Given the description of an element on the screen output the (x, y) to click on. 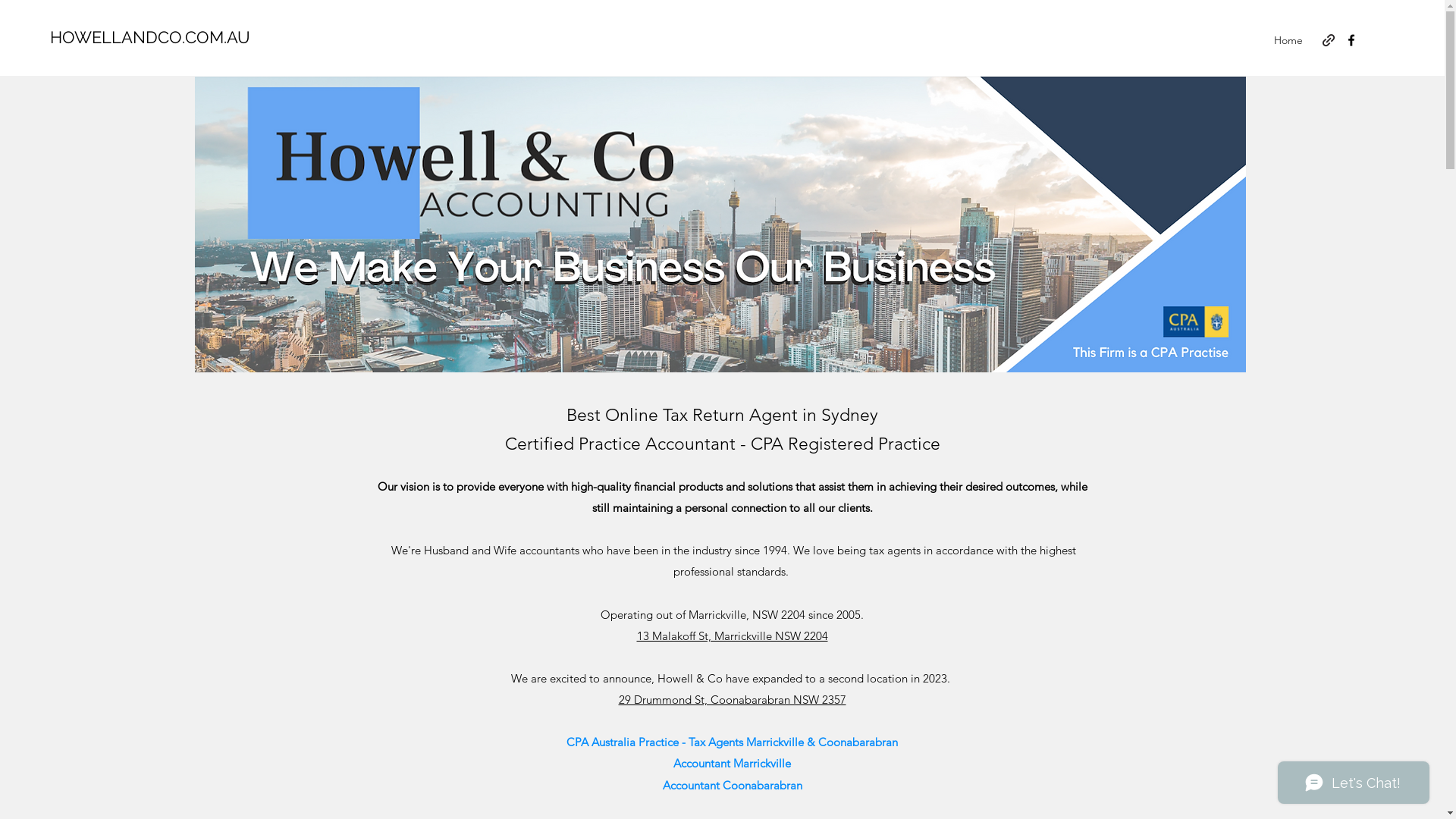
Home Element type: text (1288, 39)
HOWELLANDCO.COM.AU Element type: text (150, 37)
HOWELL AND CO ACCOUNTING SYDNEY Element type: hover (719, 223)
29 Drummond St, Coonabarabran NSW 2357 Element type: text (732, 699)
